Given the description of an element on the screen output the (x, y) to click on. 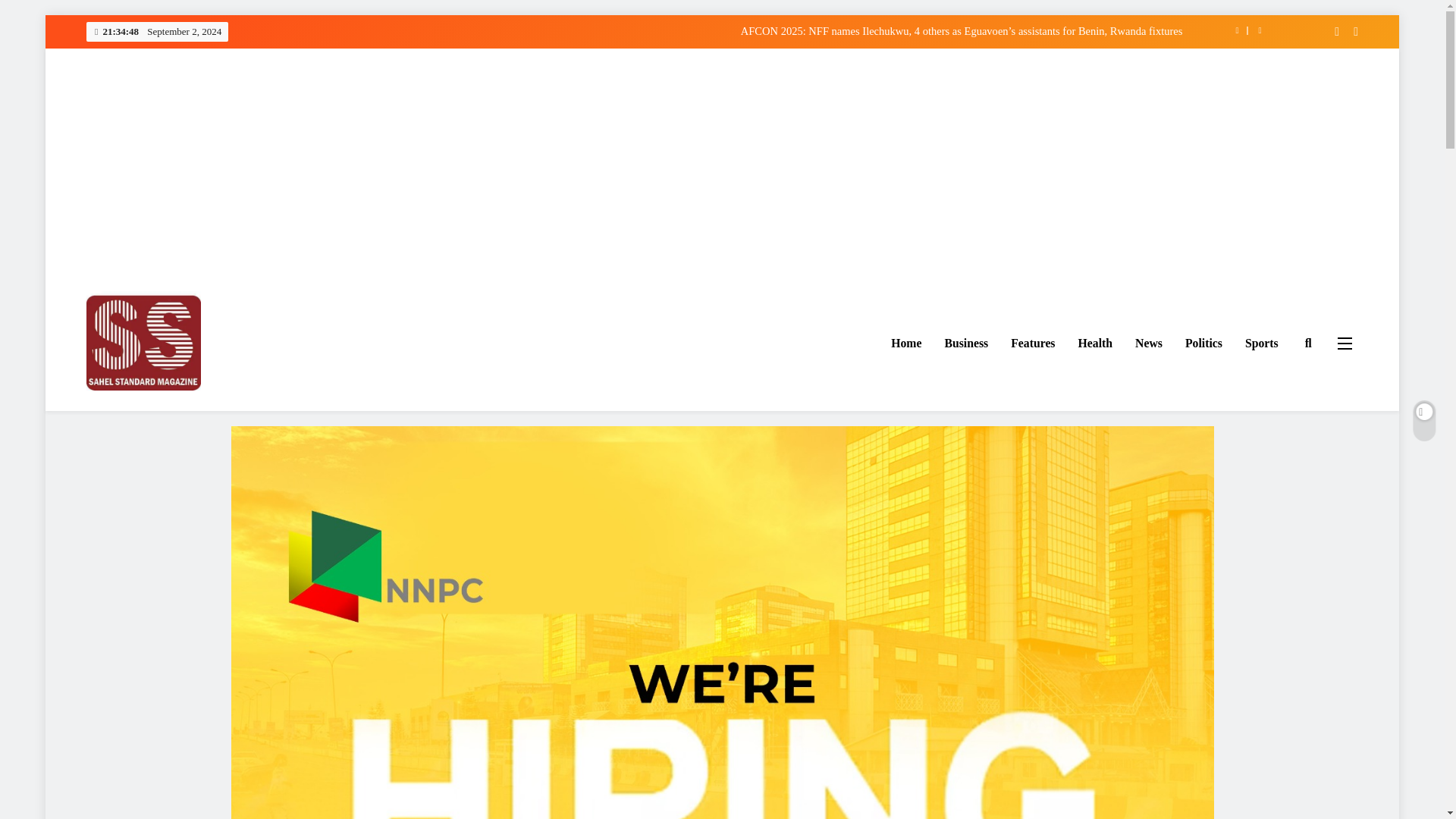
Sahel Standard (162, 412)
Sports (1261, 342)
Home (906, 342)
News (1148, 342)
Business (965, 342)
Features (1031, 342)
Politics (1203, 342)
Health (1095, 342)
